Given the description of an element on the screen output the (x, y) to click on. 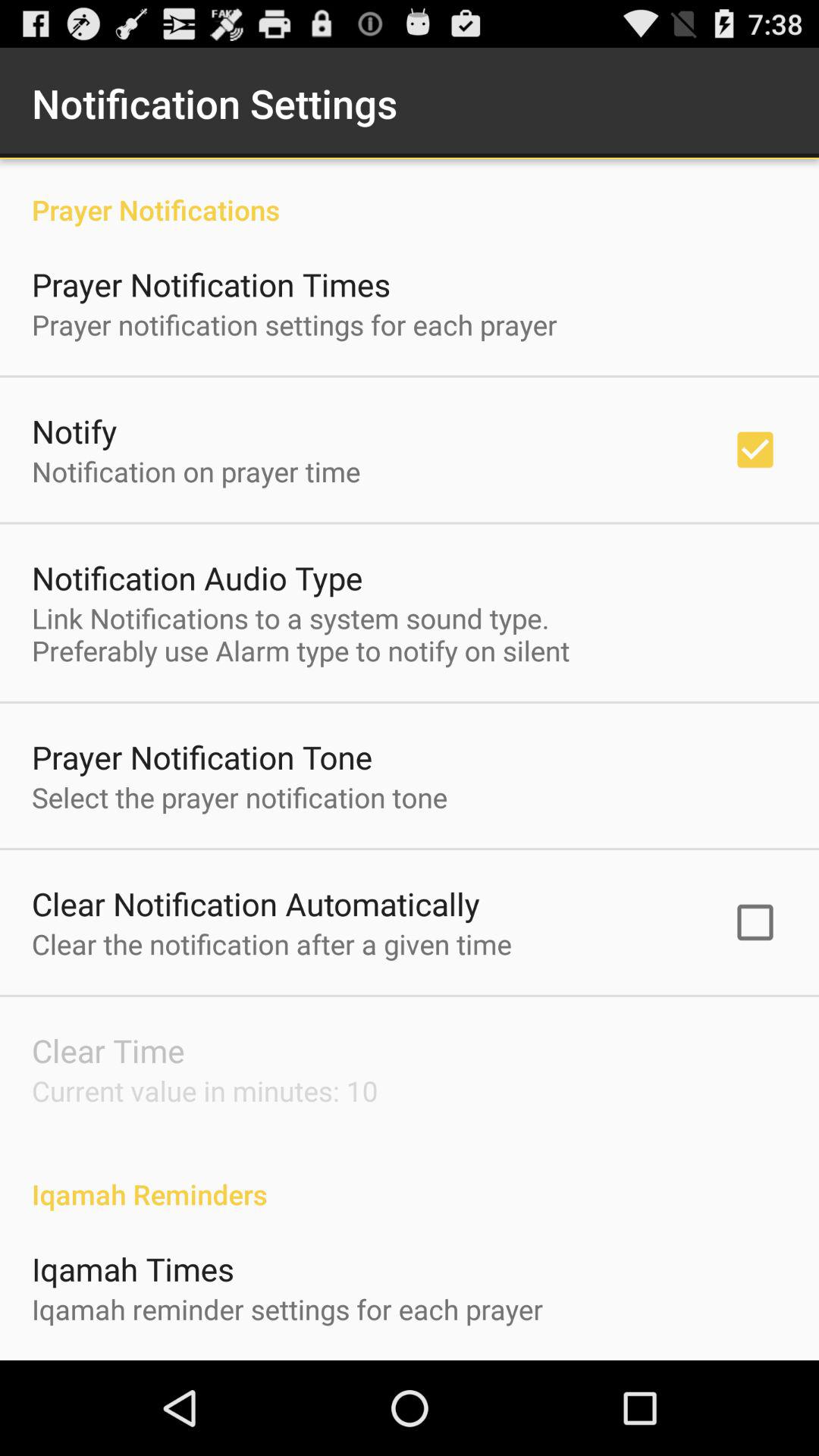
turn off app above iqamah reminder settings app (132, 1268)
